Given the description of an element on the screen output the (x, y) to click on. 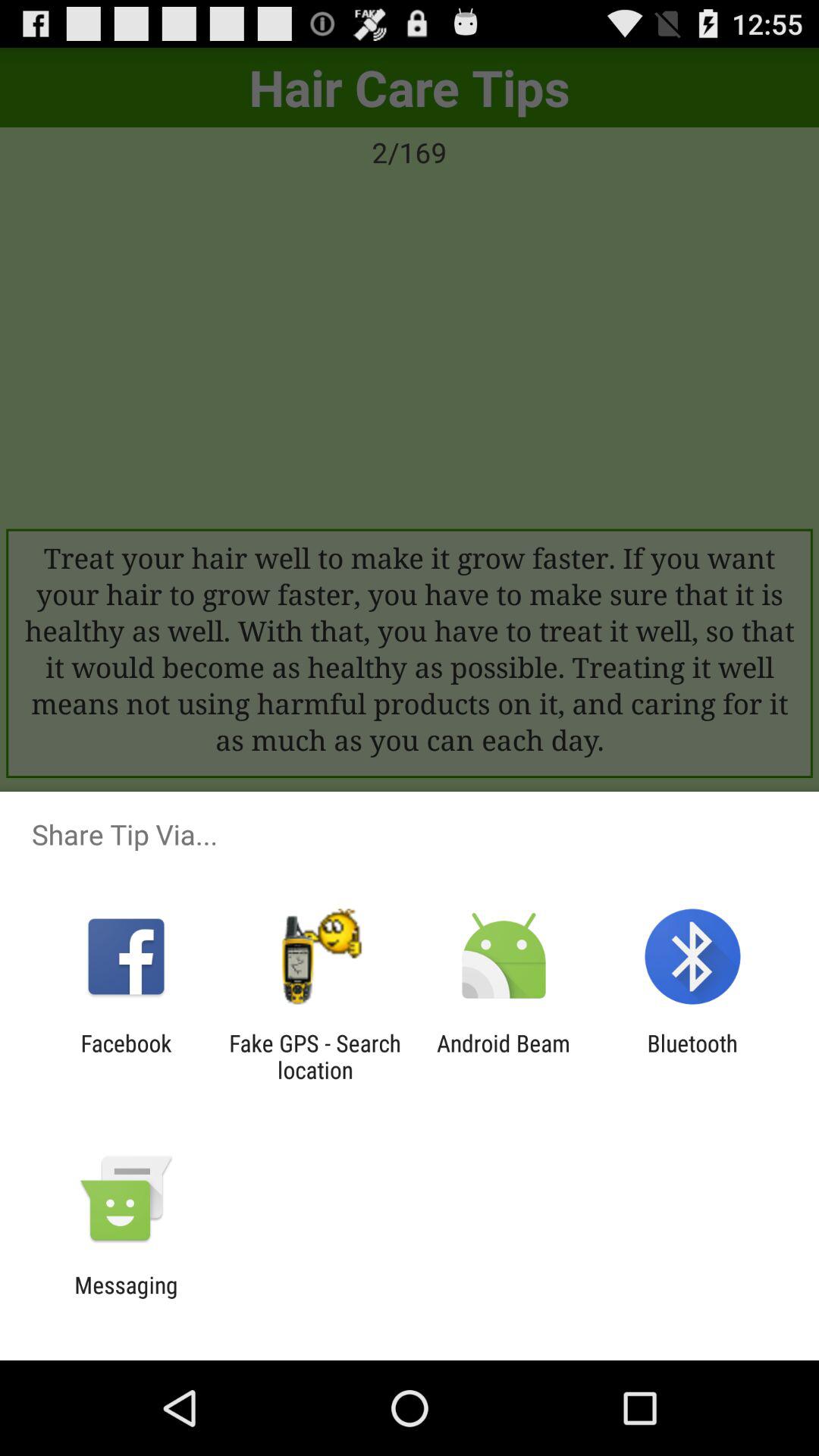
click the item next to the fake gps search item (503, 1056)
